Given the description of an element on the screen output the (x, y) to click on. 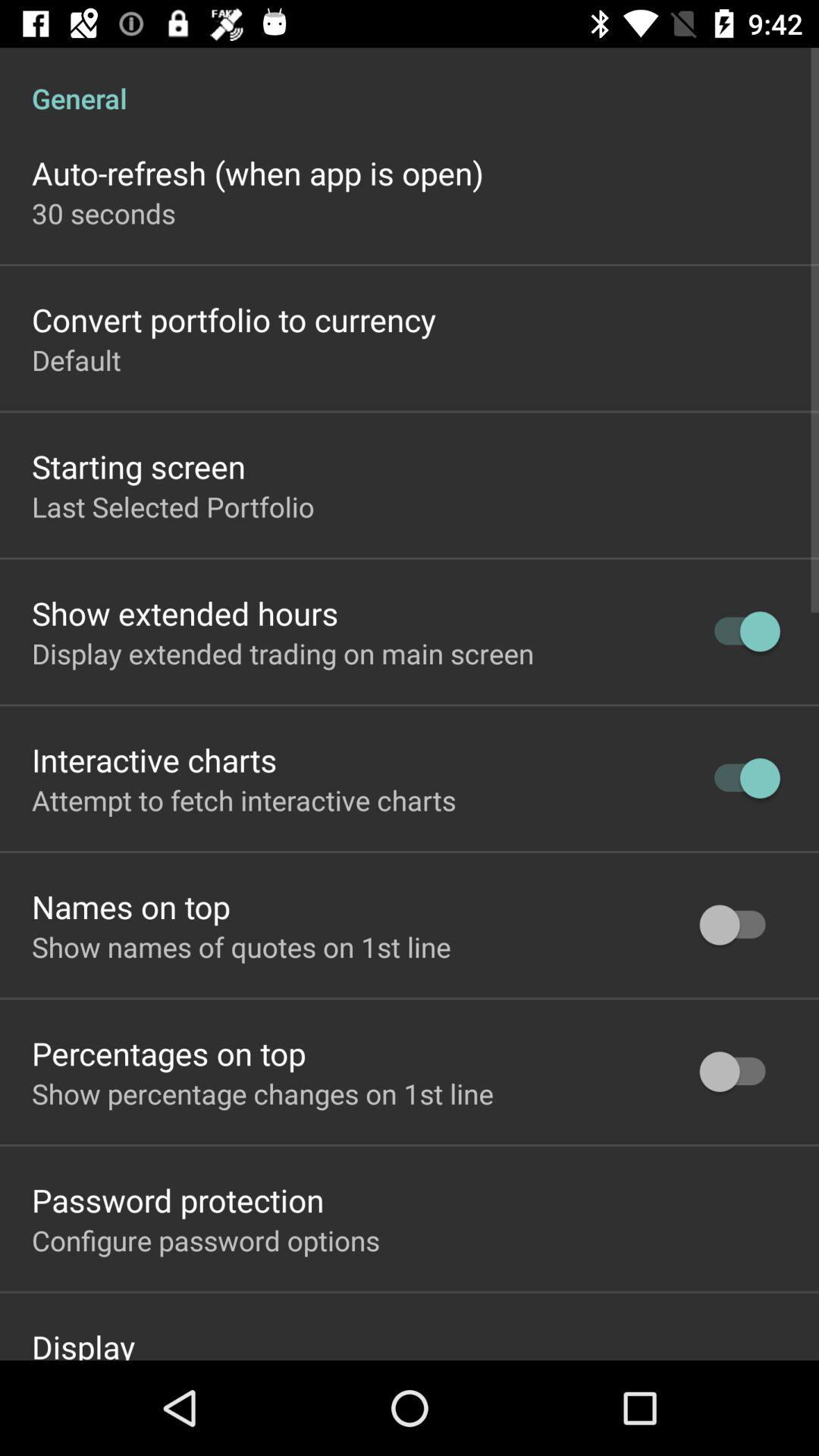
choose attempt to fetch (243, 800)
